Given the description of an element on the screen output the (x, y) to click on. 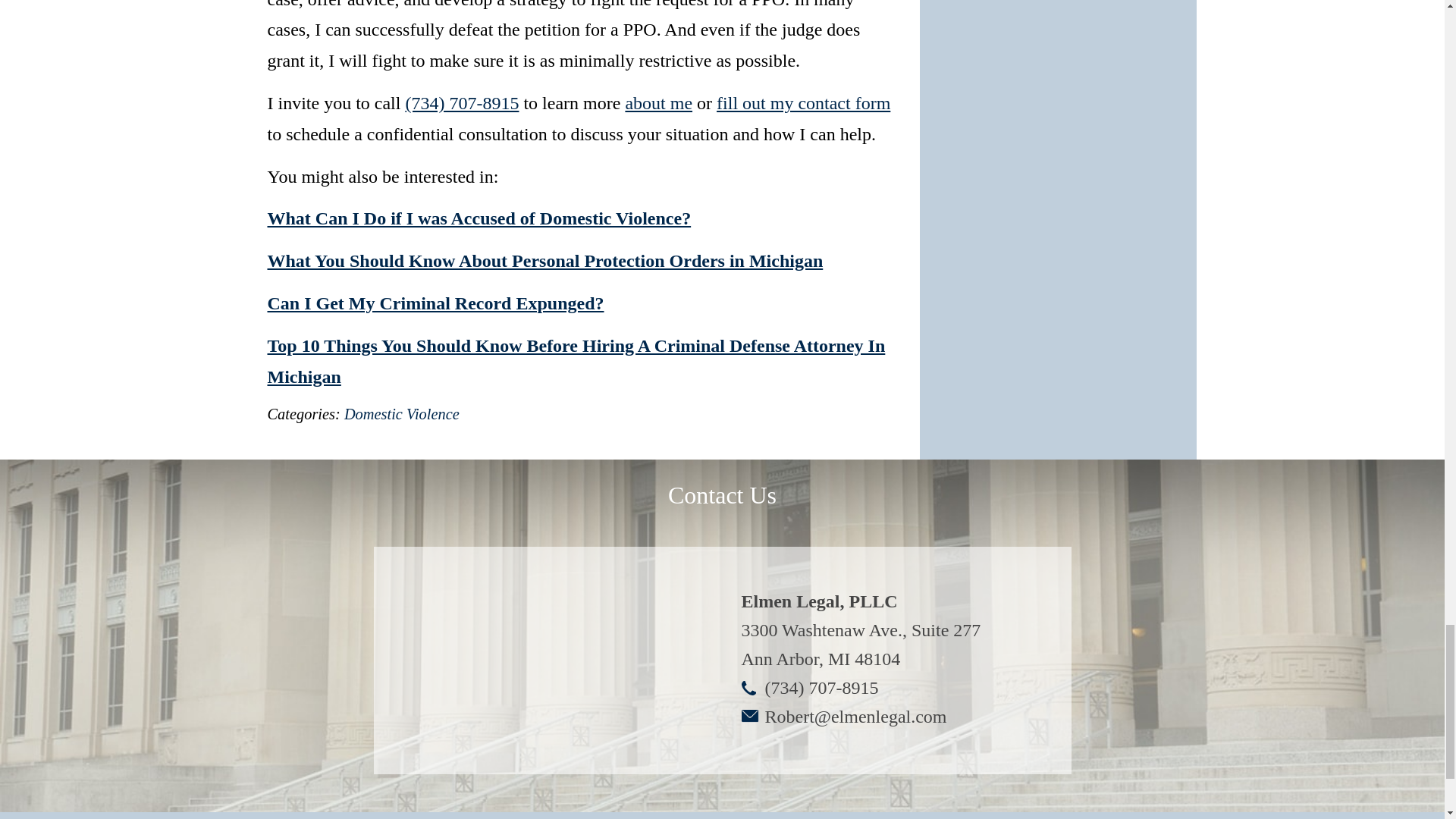
Click for more Domestic Violence information (401, 413)
Click to view this map on Google Maps (547, 660)
Email (855, 716)
